Given the description of an element on the screen output the (x, y) to click on. 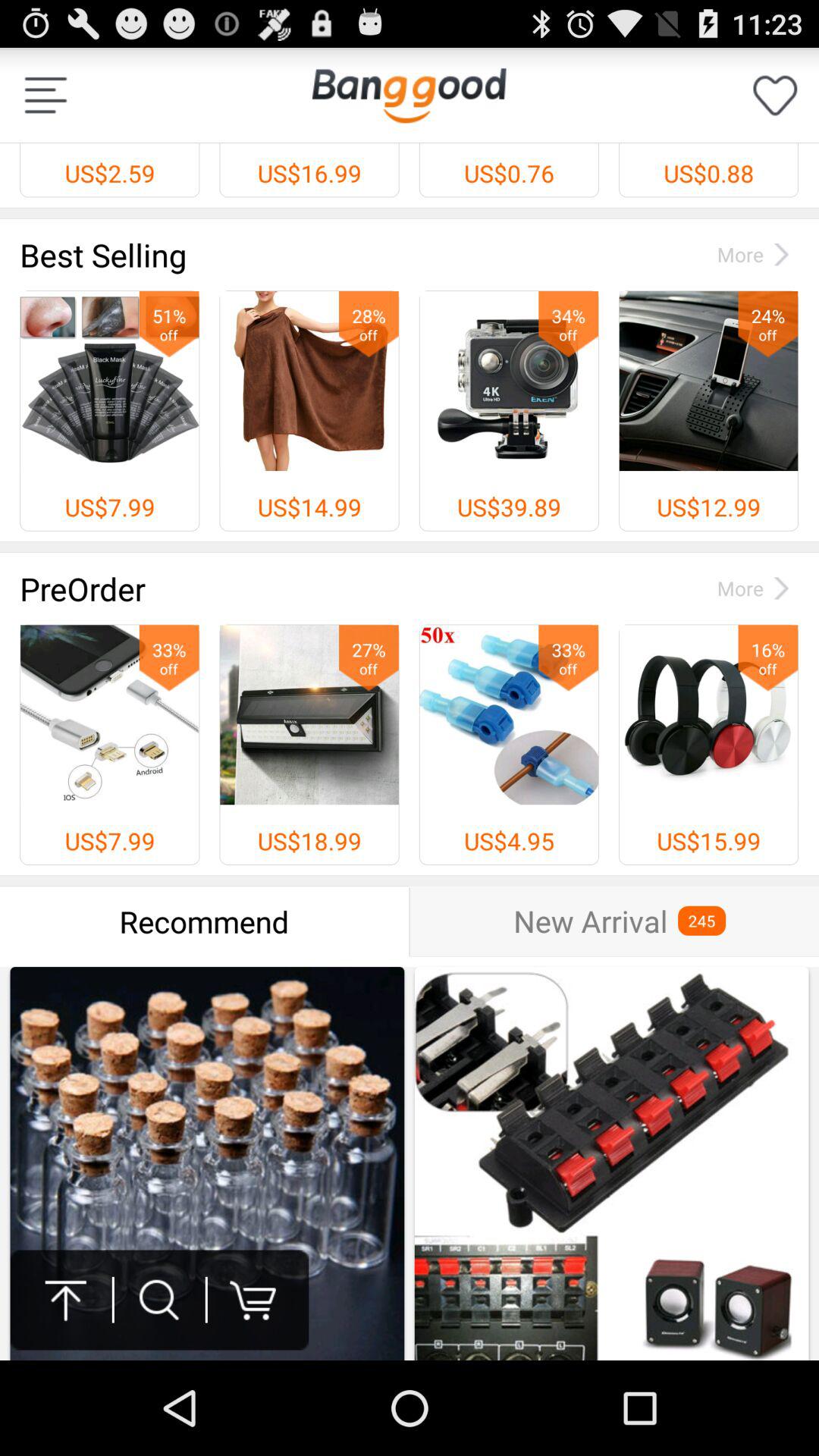
flip to recommend item (204, 921)
